Given the description of an element on the screen output the (x, y) to click on. 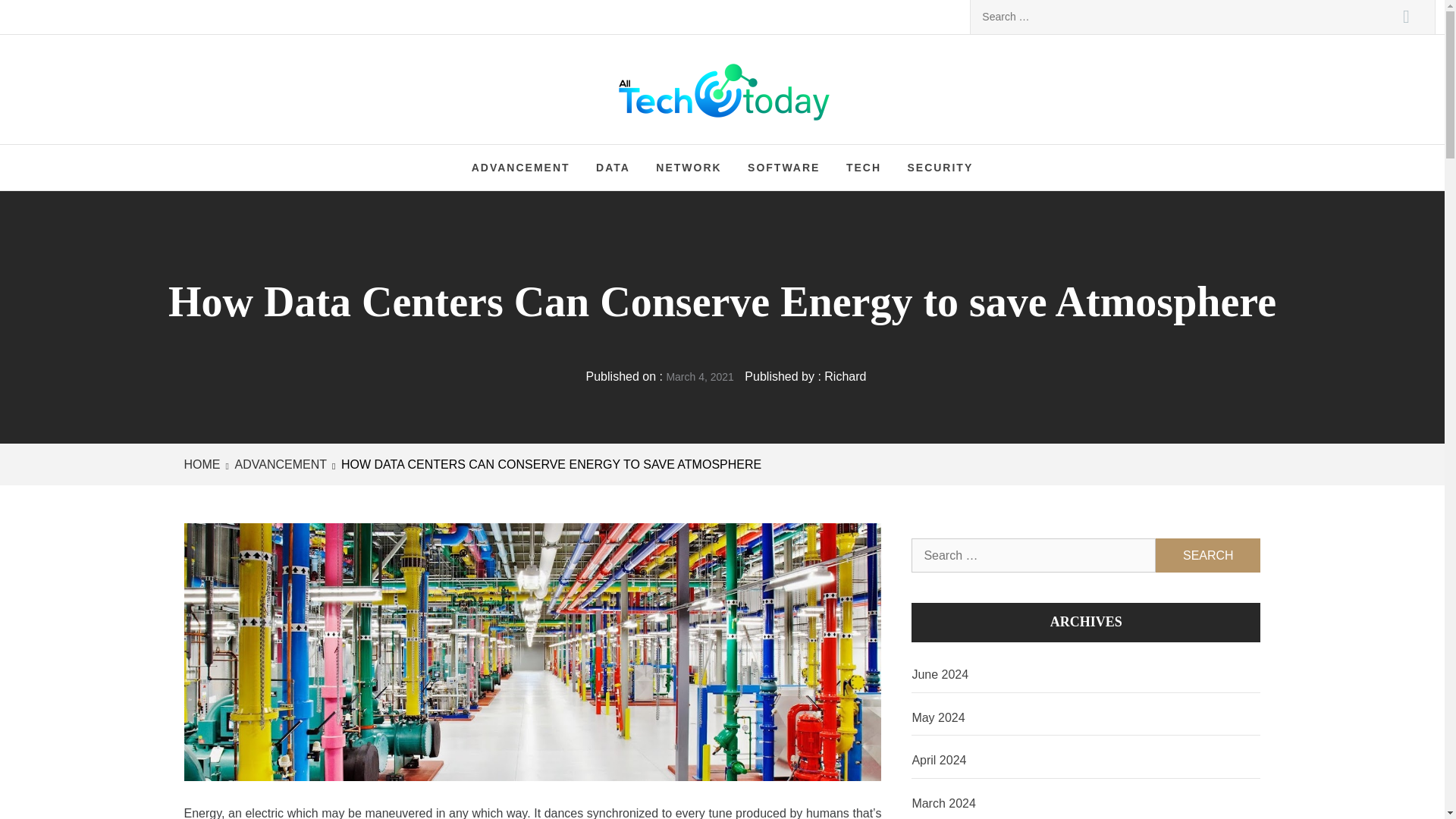
April 2024 (1085, 760)
DATA (613, 167)
All Tech Today (763, 90)
SOFTWARE (783, 167)
NETWORK (688, 167)
SECURITY (939, 167)
HOME (204, 463)
ADVANCEMENT (520, 167)
Search (1208, 555)
Search (1208, 555)
Search (1405, 17)
Search (1405, 17)
March 2024 (1085, 802)
TECH (863, 167)
May 2024 (1085, 718)
